Given the description of an element on the screen output the (x, y) to click on. 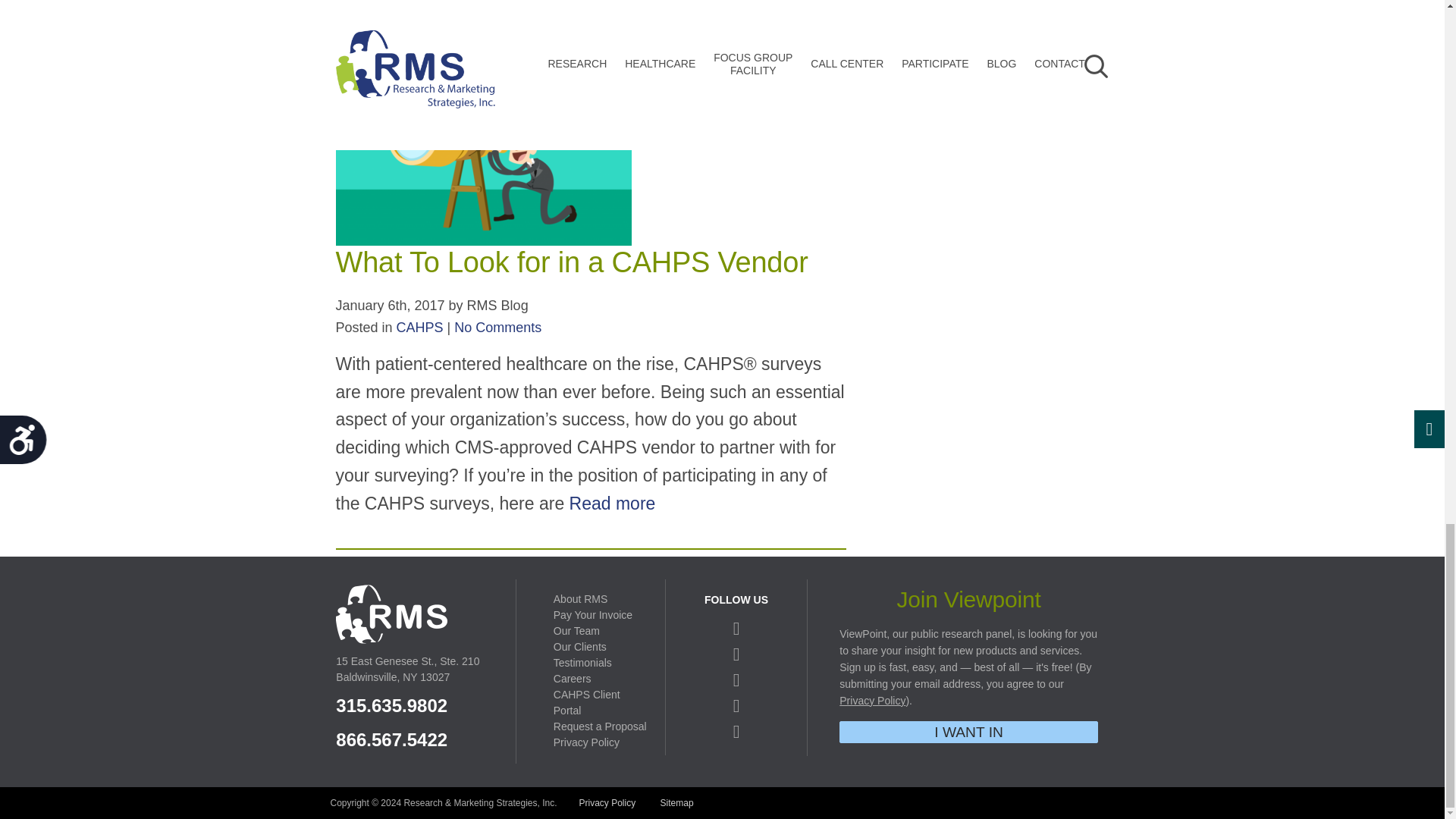
What To Look for in a CAHPS Vendor (571, 262)
Read more (501, 1)
Read more (612, 503)
No Comments (497, 327)
CAHPS (420, 327)
